Given the description of an element on the screen output the (x, y) to click on. 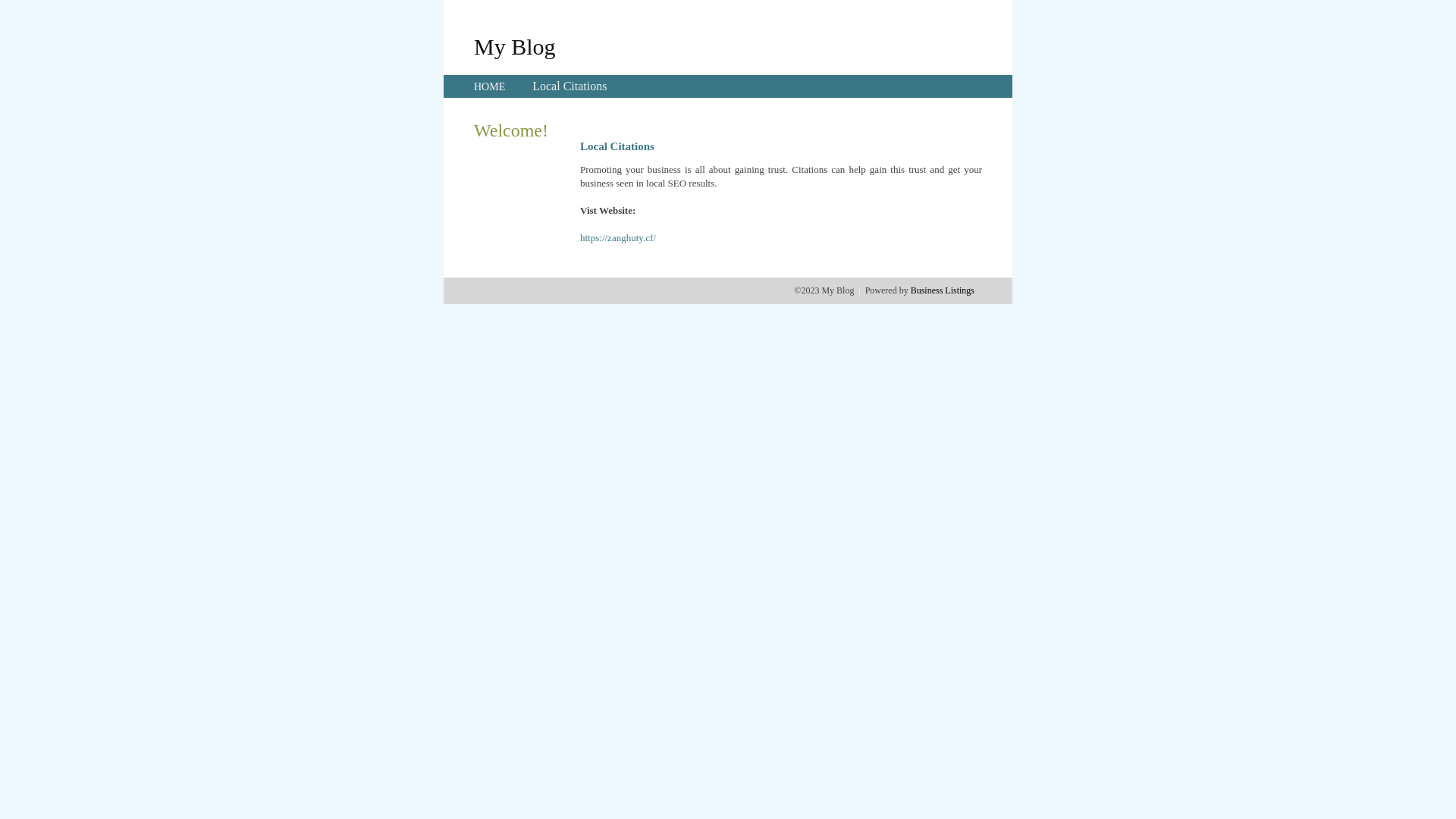
Business Listings Element type: text (942, 290)
My Blog Element type: text (514, 46)
HOME Element type: text (489, 86)
Local Citations Element type: text (569, 85)
https://zanghuty.cf/ Element type: text (617, 237)
